Given the description of an element on the screen output the (x, y) to click on. 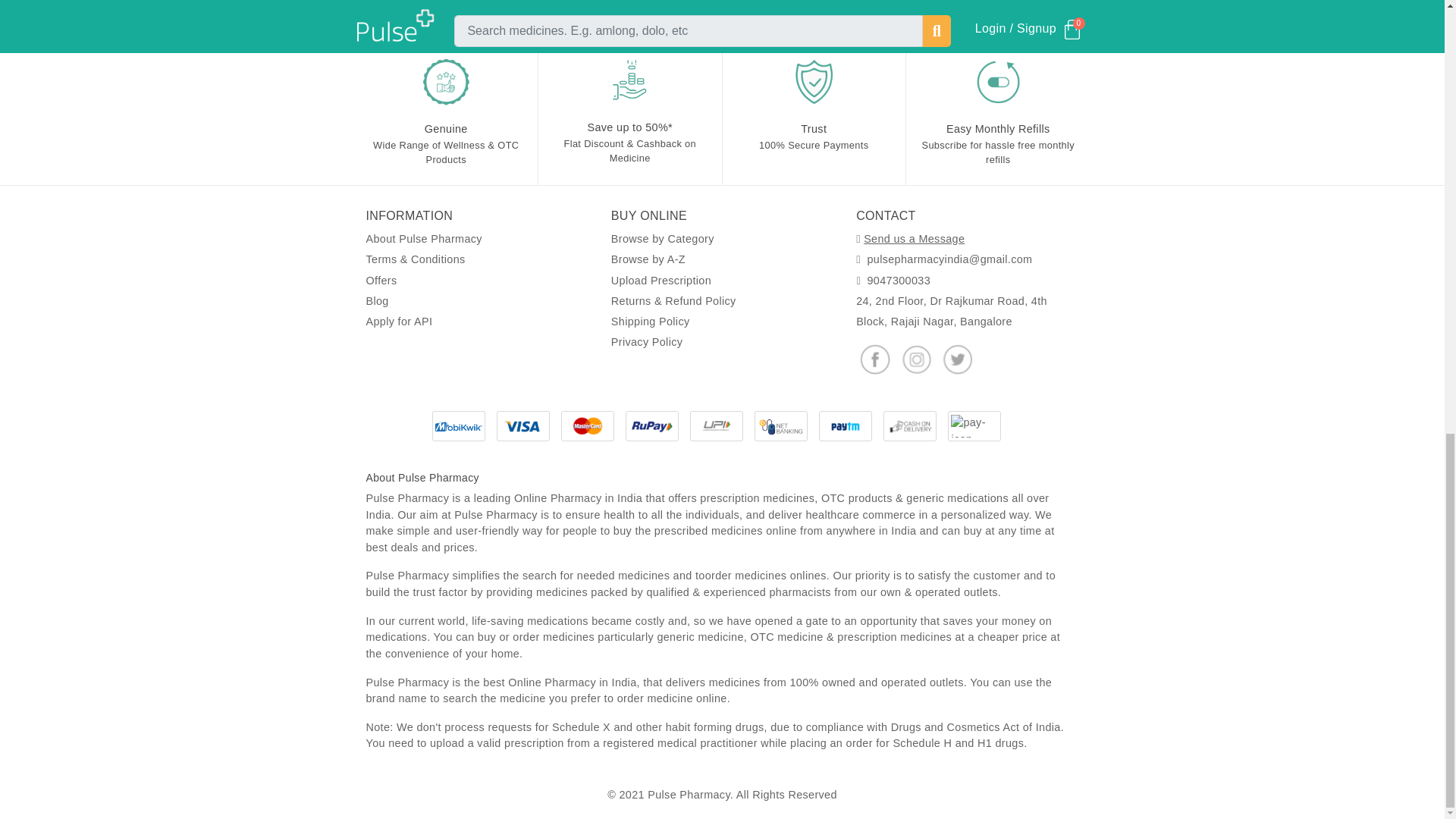
Blog (376, 300)
About Pulse Pharmacy (423, 238)
Apply for API (398, 321)
Shipping Policy (650, 321)
Upload Prescription (661, 280)
Browse by Category (662, 238)
Send us a Message (913, 238)
Offers (380, 280)
Browse by A-Z (648, 259)
Privacy Policy (646, 341)
